Given the description of an element on the screen output the (x, y) to click on. 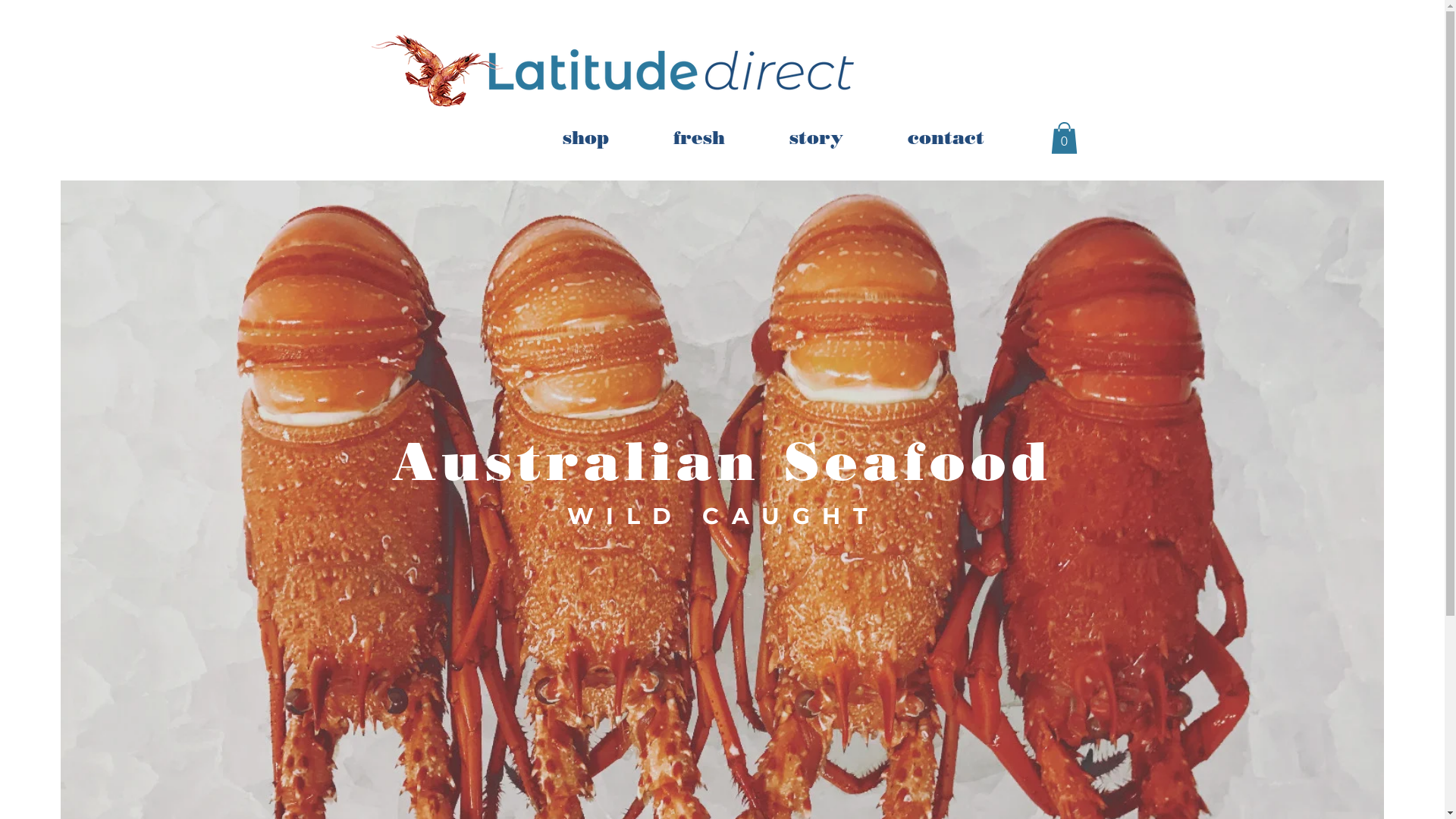
0 Element type: text (1064, 137)
contact Element type: text (945, 137)
shop Element type: text (584, 137)
story Element type: text (815, 137)
fresh Element type: text (699, 137)
